Given the description of an element on the screen output the (x, y) to click on. 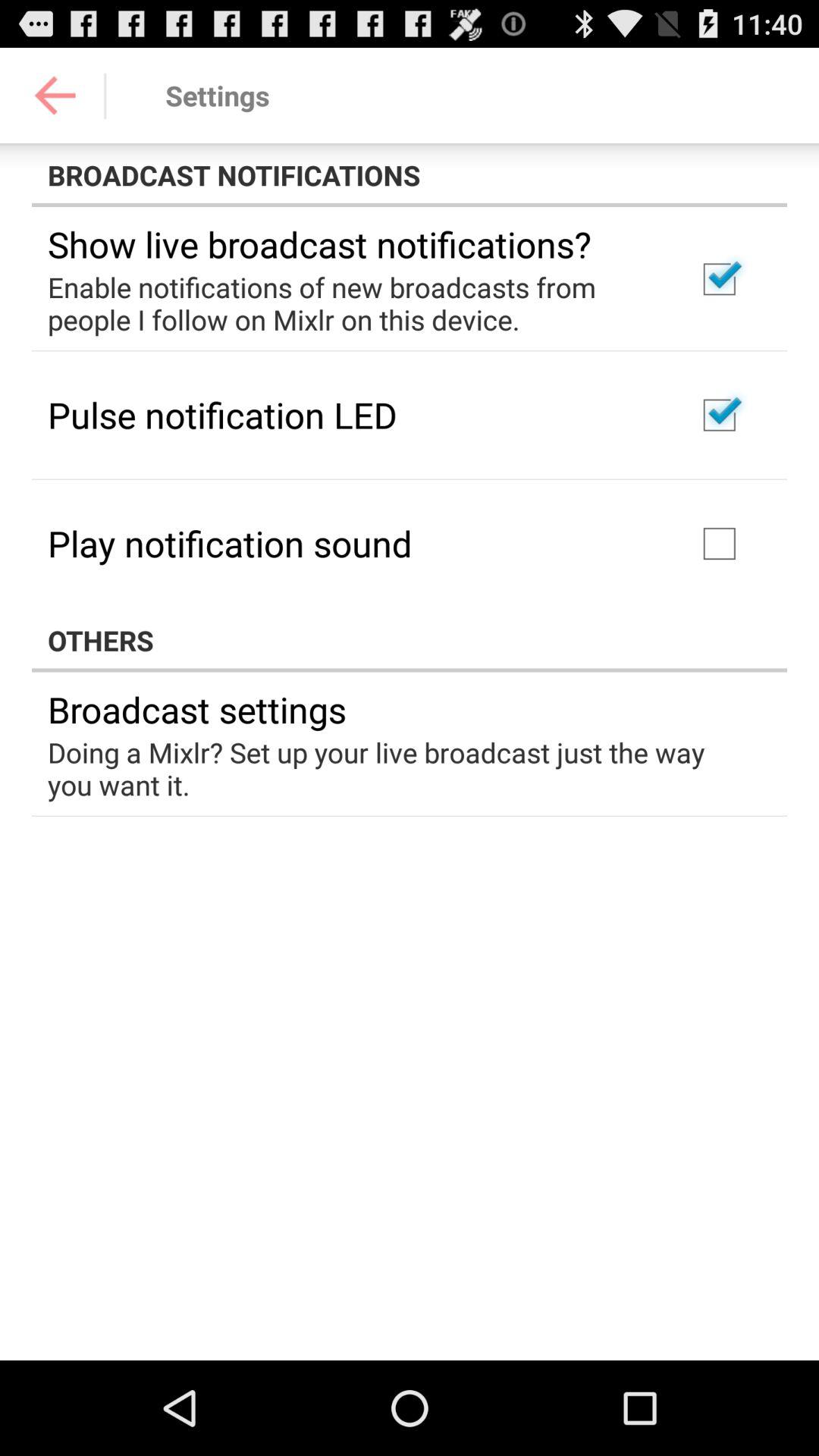
turn off the play notification sound item (229, 543)
